Given the description of an element on the screen output the (x, y) to click on. 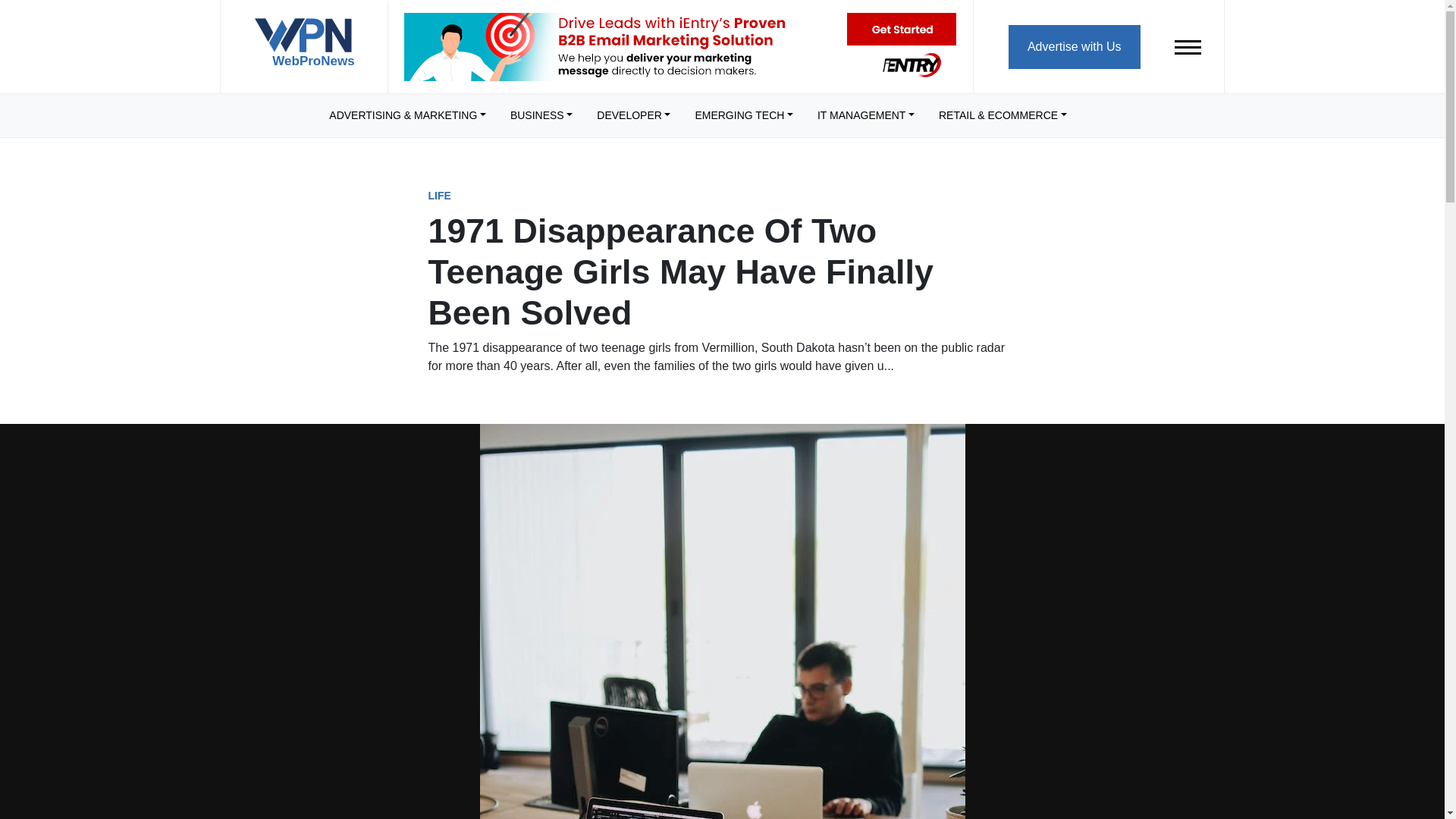
Advertise with Us (1074, 45)
WebProNews (303, 49)
